Given the description of an element on the screen output the (x, y) to click on. 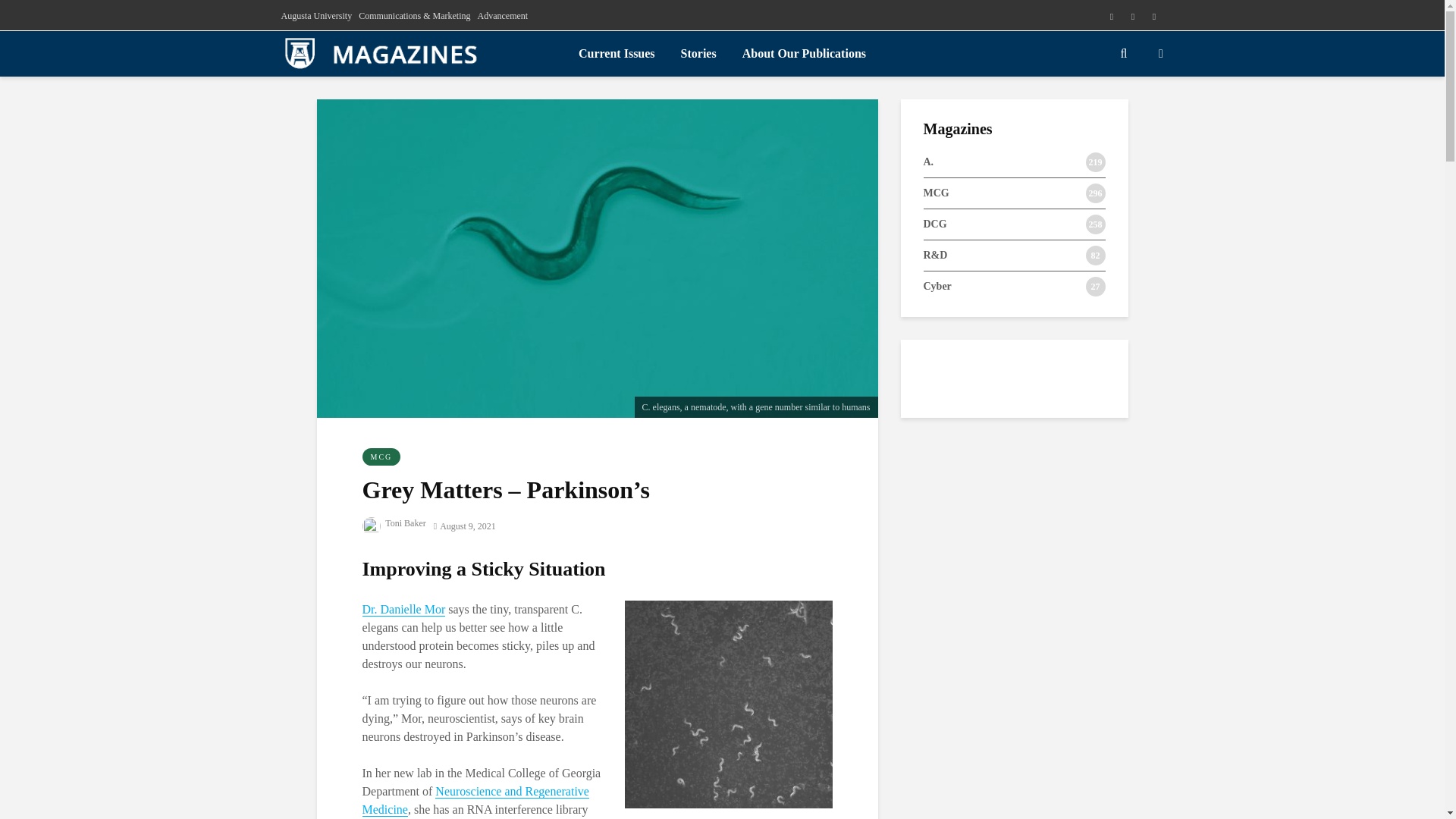
Advancement (502, 15)
About Our Publications (803, 53)
Augusta University (316, 15)
Current Issues (616, 53)
Stories (698, 53)
